Given the description of an element on the screen output the (x, y) to click on. 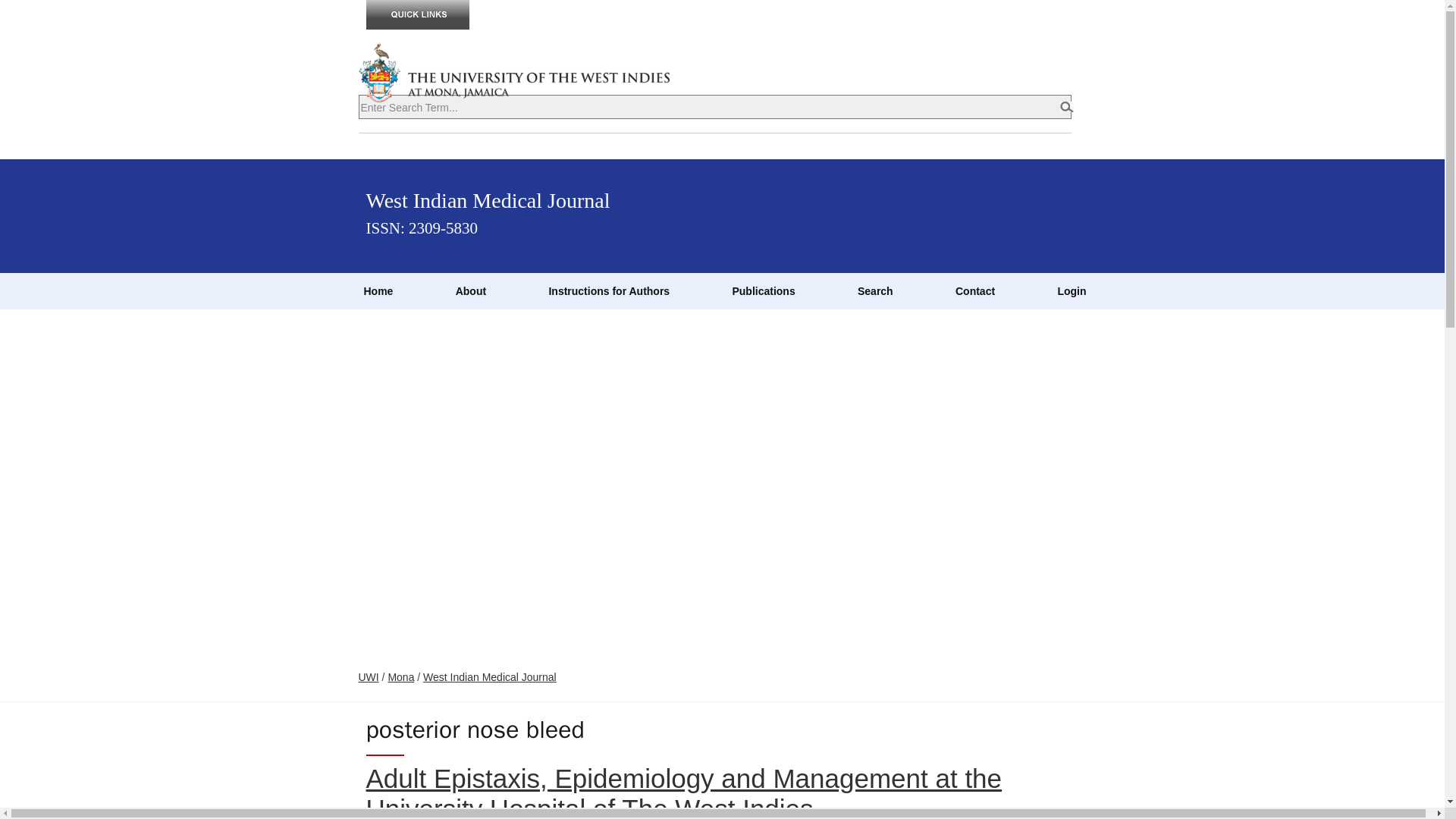
About (470, 291)
Go to our homepage (378, 291)
